Given the description of an element on the screen output the (x, y) to click on. 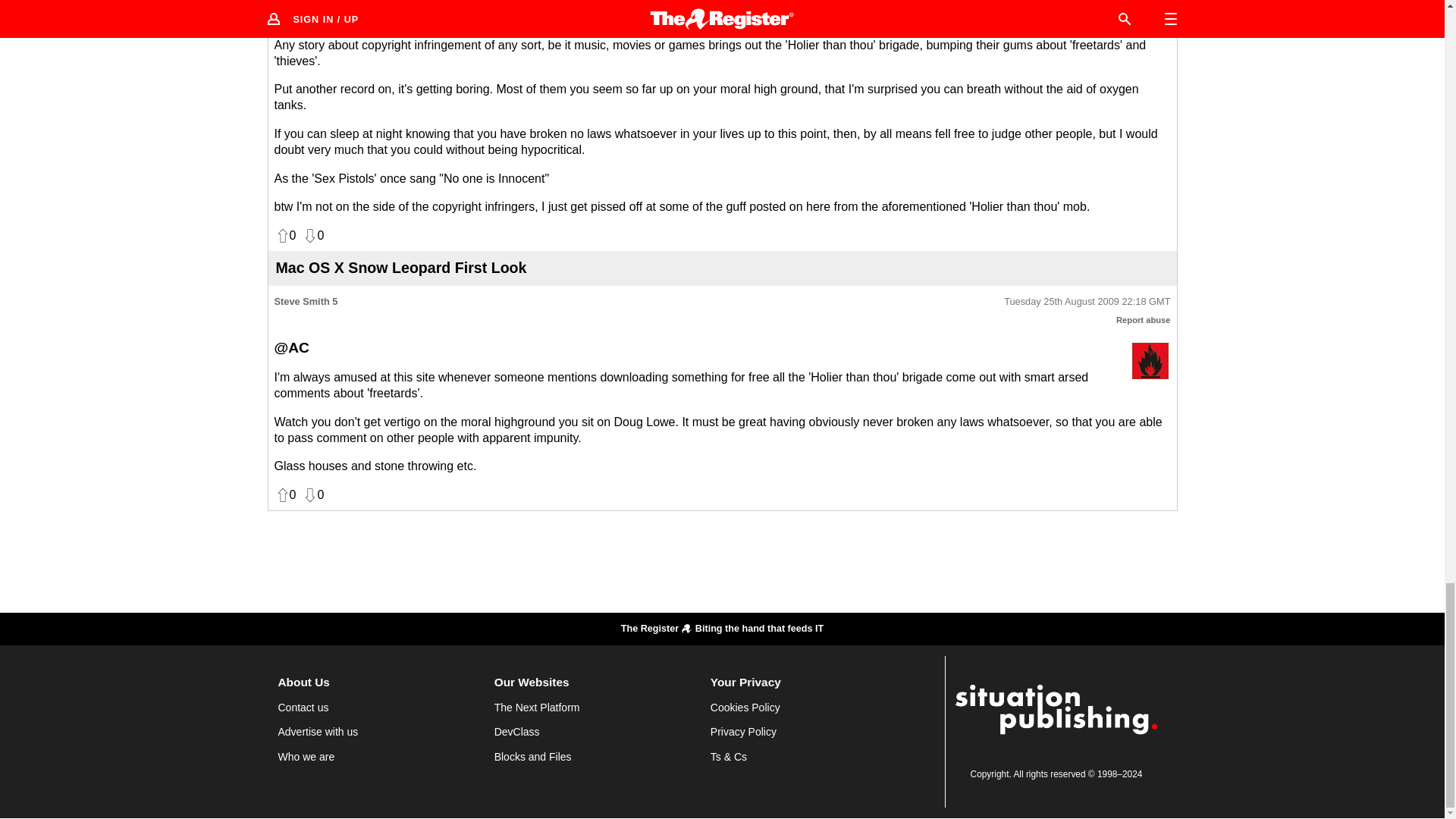
Report abuse (1143, 319)
